Given the description of an element on the screen output the (x, y) to click on. 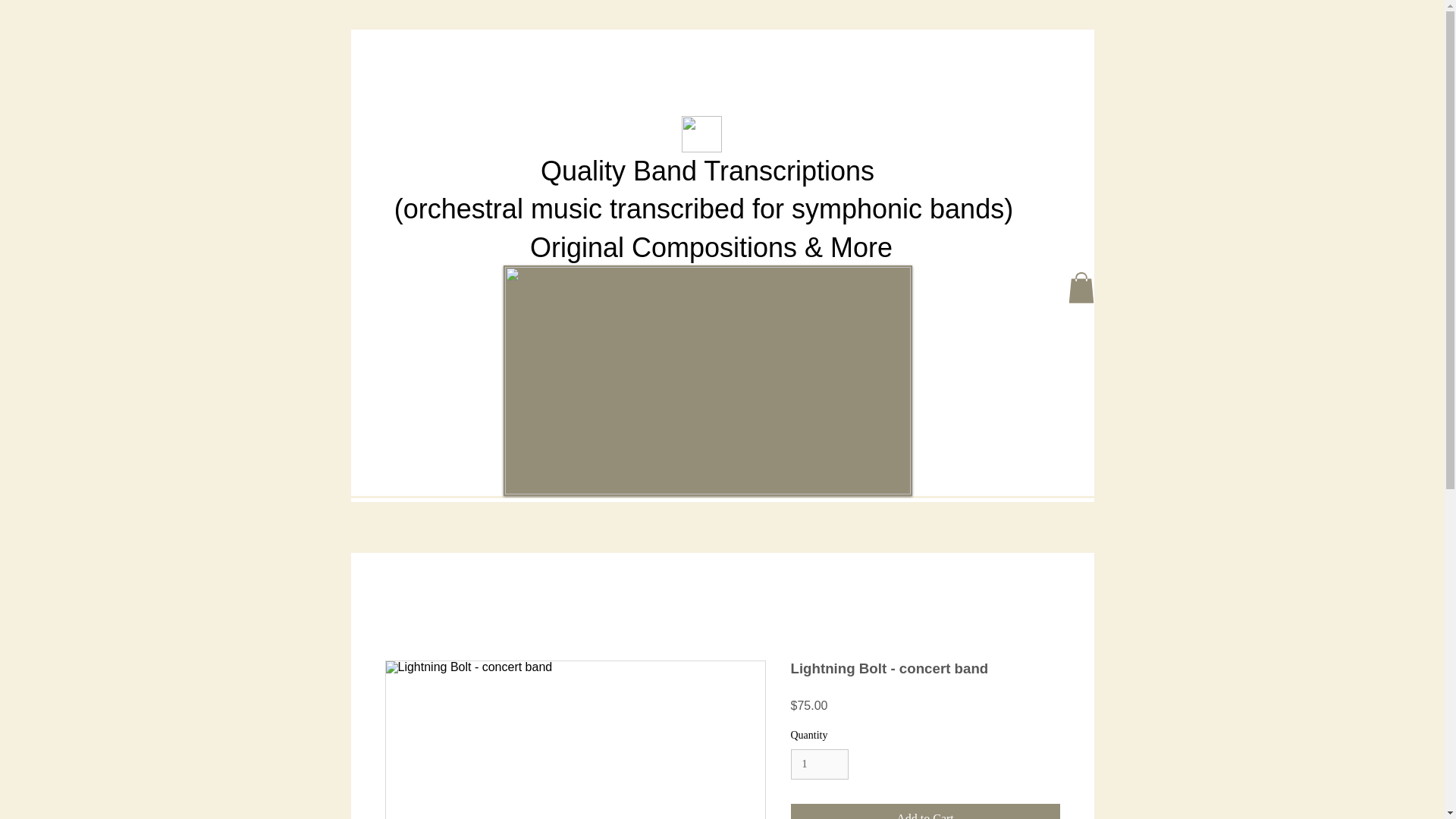
1 (818, 764)
Add to Cart (924, 811)
